Given the description of an element on the screen output the (x, y) to click on. 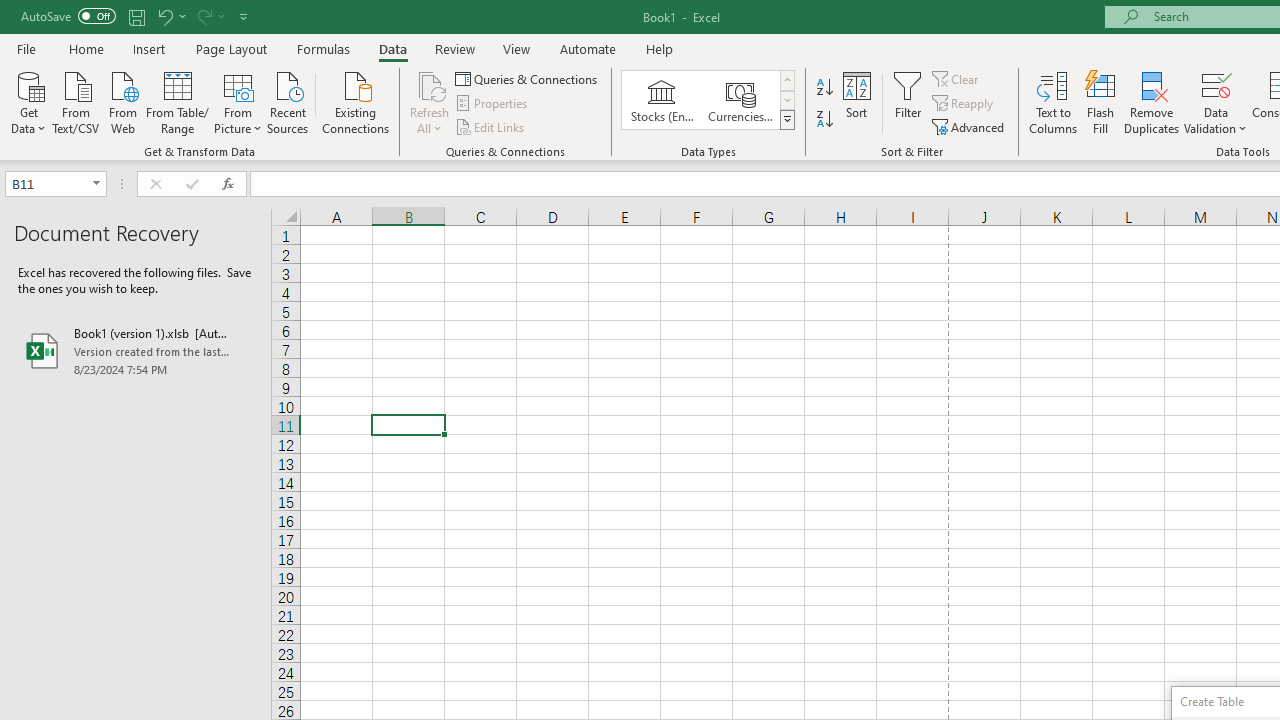
Review (454, 48)
Filter (908, 102)
Refresh All (429, 102)
Recent Sources (287, 101)
Automate (588, 48)
Clear (957, 78)
Text to Columns... (1053, 102)
Sort A to Z (824, 87)
Reapply (964, 103)
AutomationID: ConvertToLinkedEntity (708, 99)
Row up (786, 79)
Get Data (28, 101)
Refresh All (429, 84)
